Given the description of an element on the screen output the (x, y) to click on. 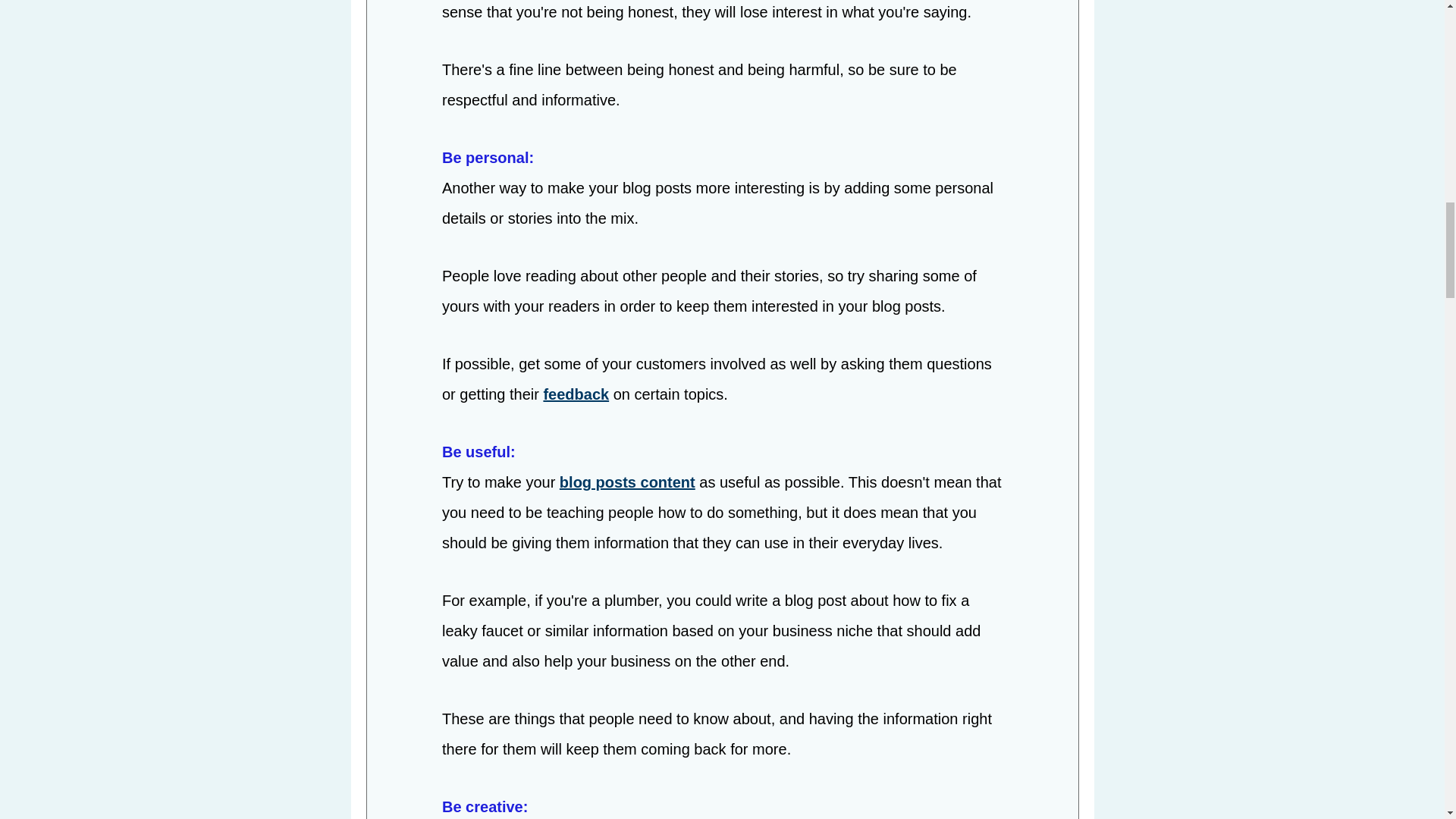
blog posts content (626, 483)
feedback (575, 395)
